Given the description of an element on the screen output the (x, y) to click on. 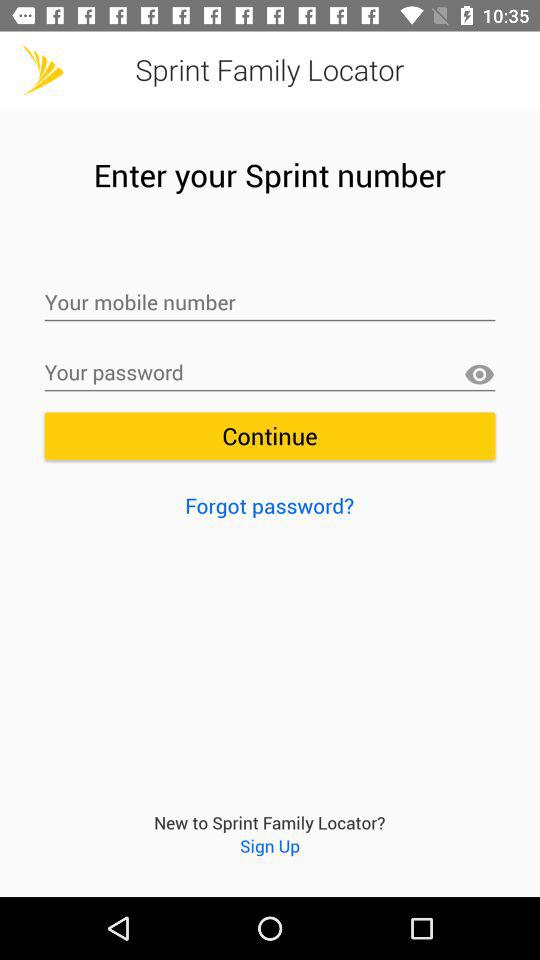
swipe until continue icon (269, 435)
